Given the description of an element on the screen output the (x, y) to click on. 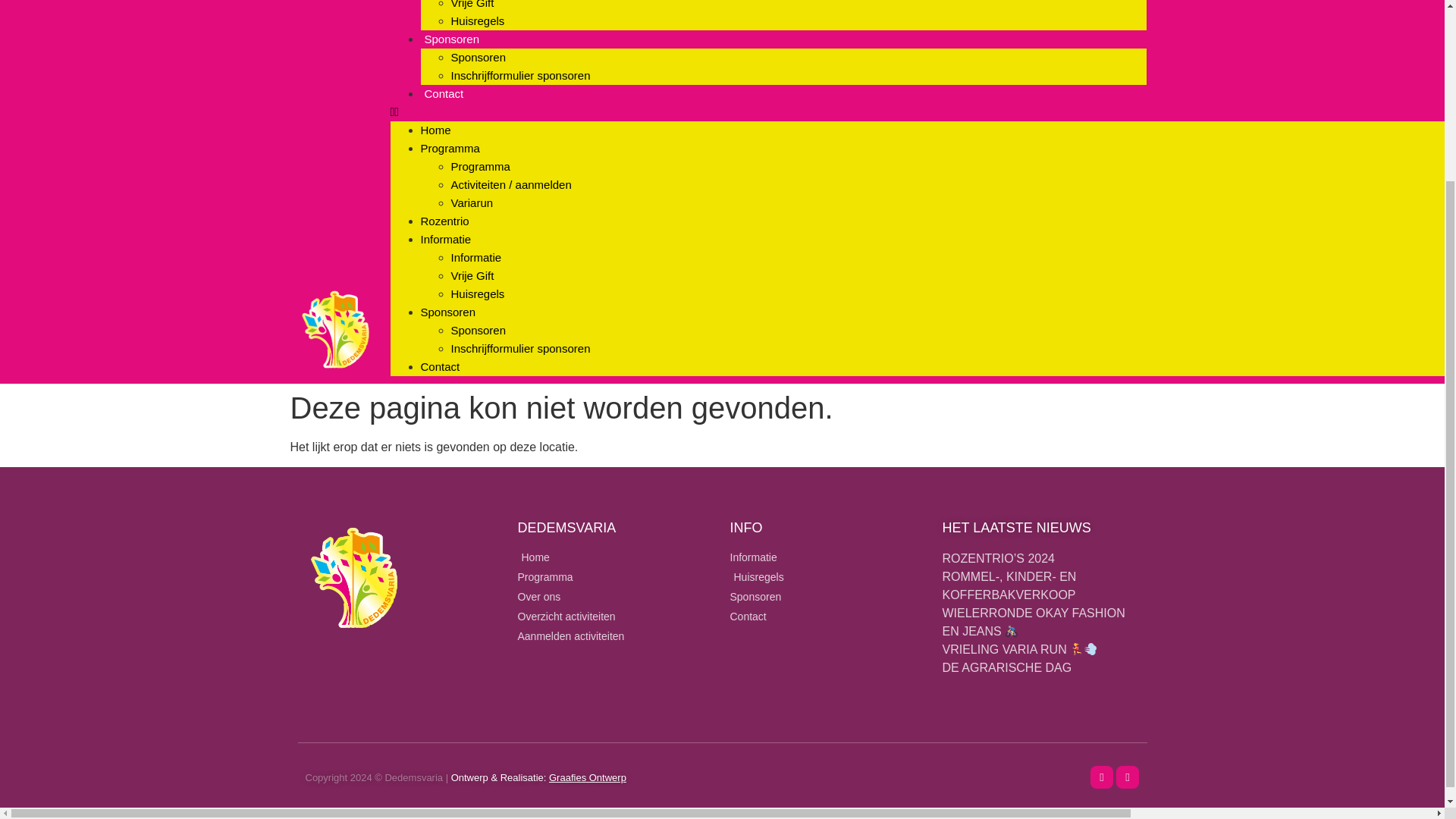
Rozentrio (444, 220)
Overzicht activiteiten (615, 616)
Programma (449, 147)
Over ons (615, 596)
Informatie (445, 238)
Programma (615, 577)
Vrije Gift (471, 4)
Sponsoren (477, 56)
Sponsoren (448, 311)
Inschrijfformulier sponsoren (519, 74)
Informatie (474, 256)
Variarun (471, 202)
Aanmelden activiteiten (615, 636)
Sponsoren (477, 329)
Huisregels (476, 293)
